Given the description of an element on the screen output the (x, y) to click on. 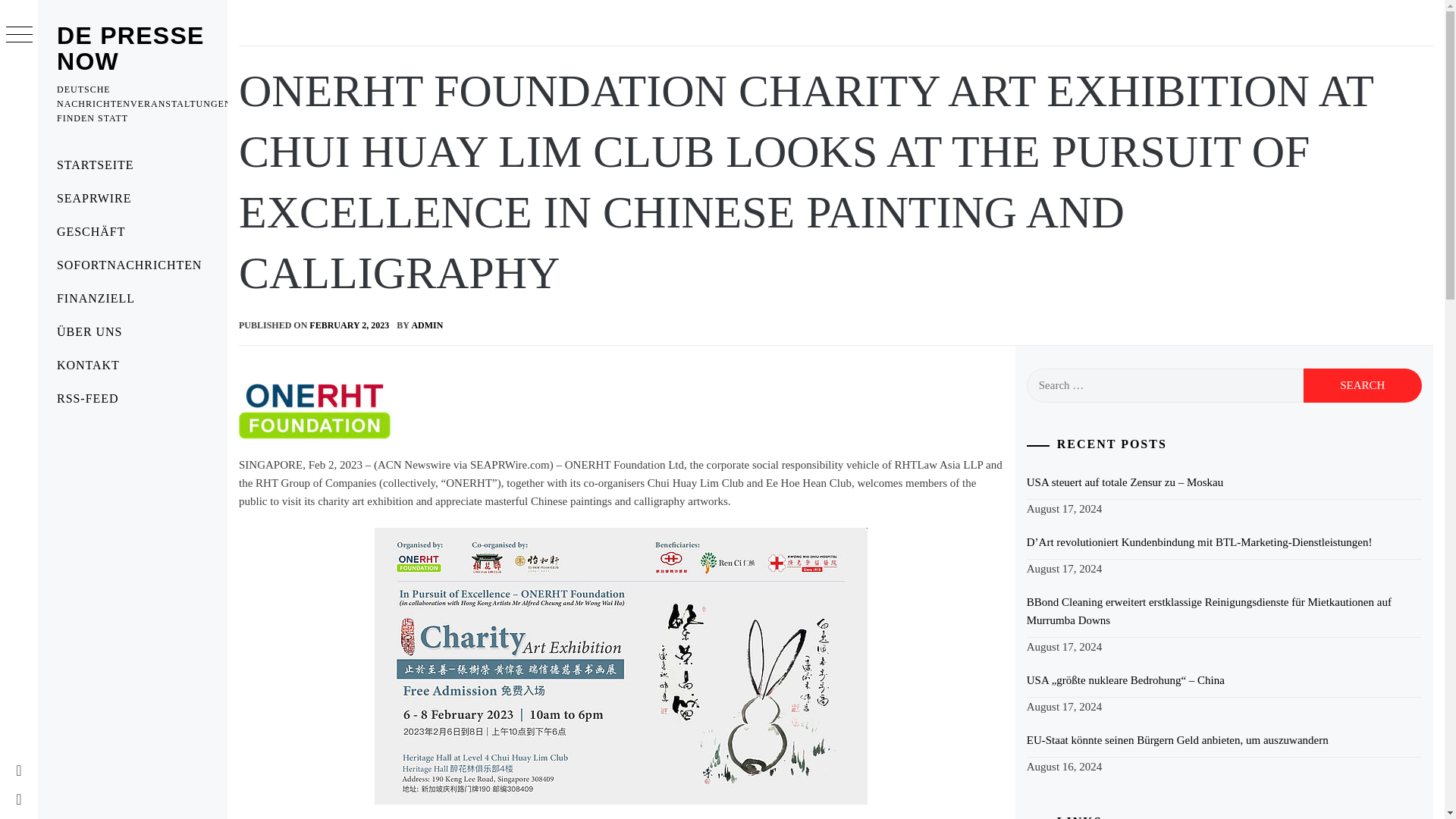
DE PRESSE NOW (130, 48)
STARTSEITE (132, 164)
Search (1362, 385)
SOFORTNACHRICHTEN (132, 264)
FINANZIELL (132, 298)
Search (646, 37)
RSS-FEED (132, 398)
ADMIN (426, 325)
KONTAKT (132, 365)
Search (1362, 385)
